Given the description of an element on the screen output the (x, y) to click on. 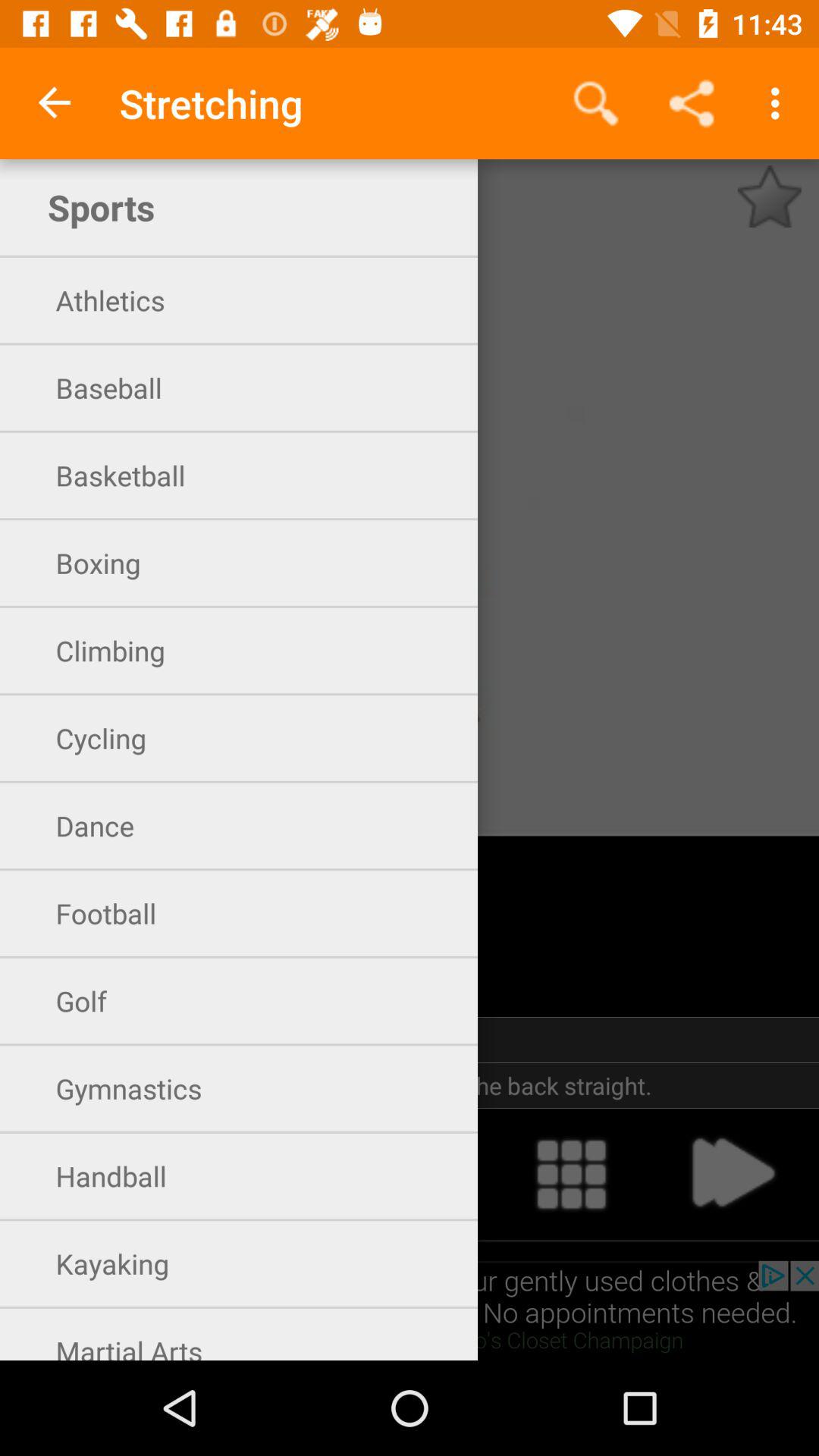
open the item below 30 seconds  icon (409, 1084)
